Given the description of an element on the screen output the (x, y) to click on. 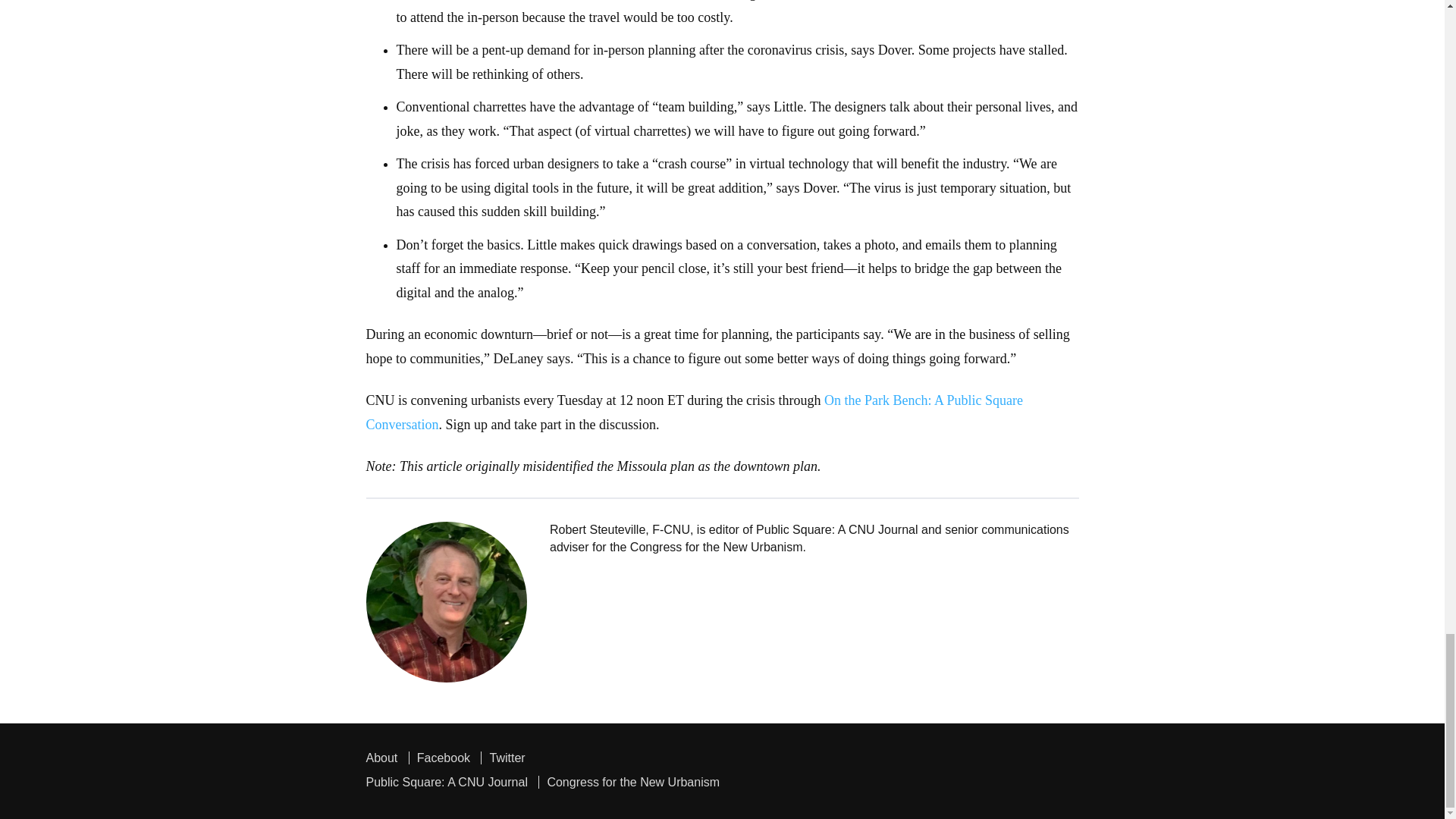
On the Park Bench: A Public Square Conversation (694, 412)
